Given the description of an element on the screen output the (x, y) to click on. 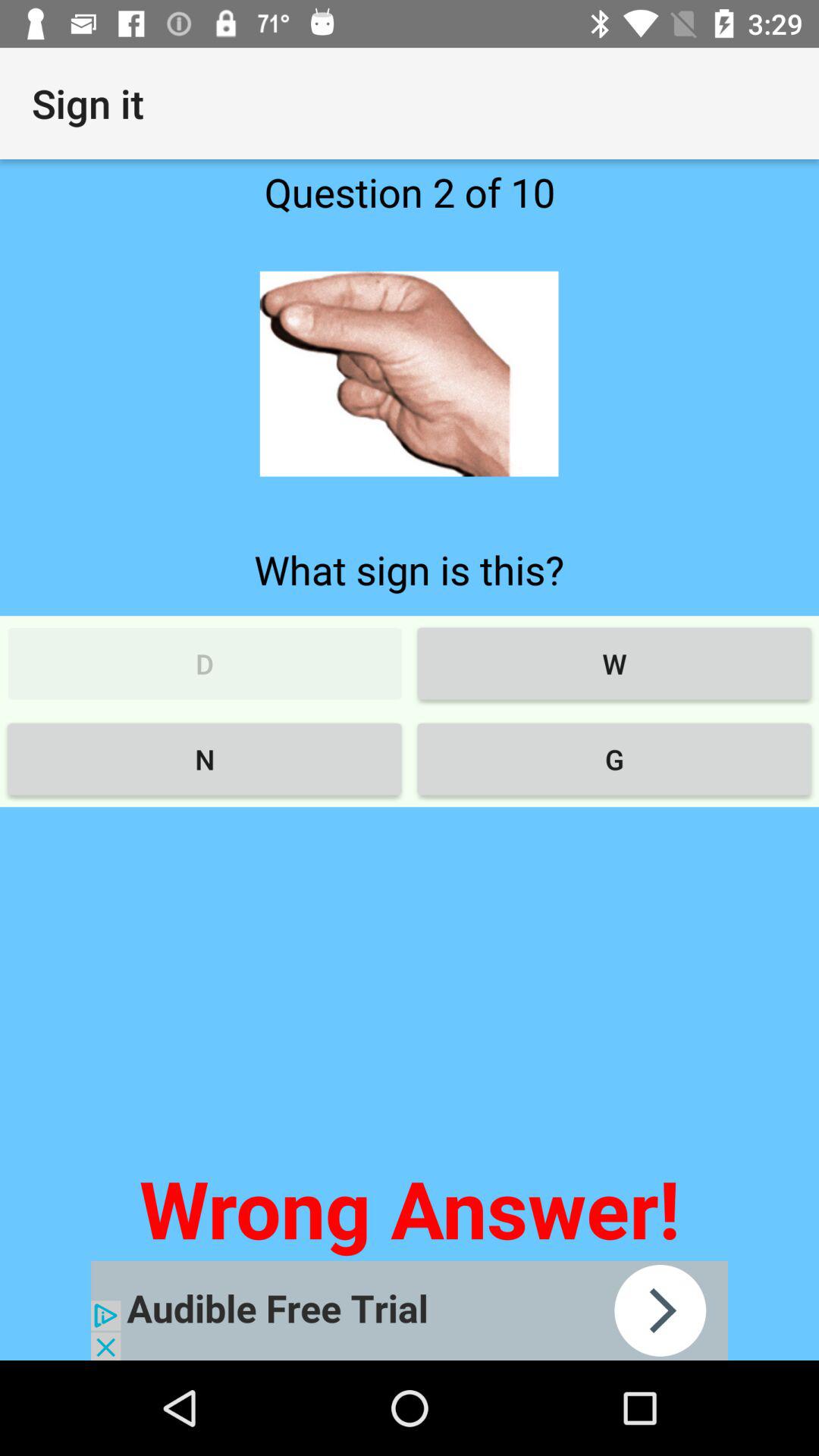
next button (409, 1310)
